Given the description of an element on the screen output the (x, y) to click on. 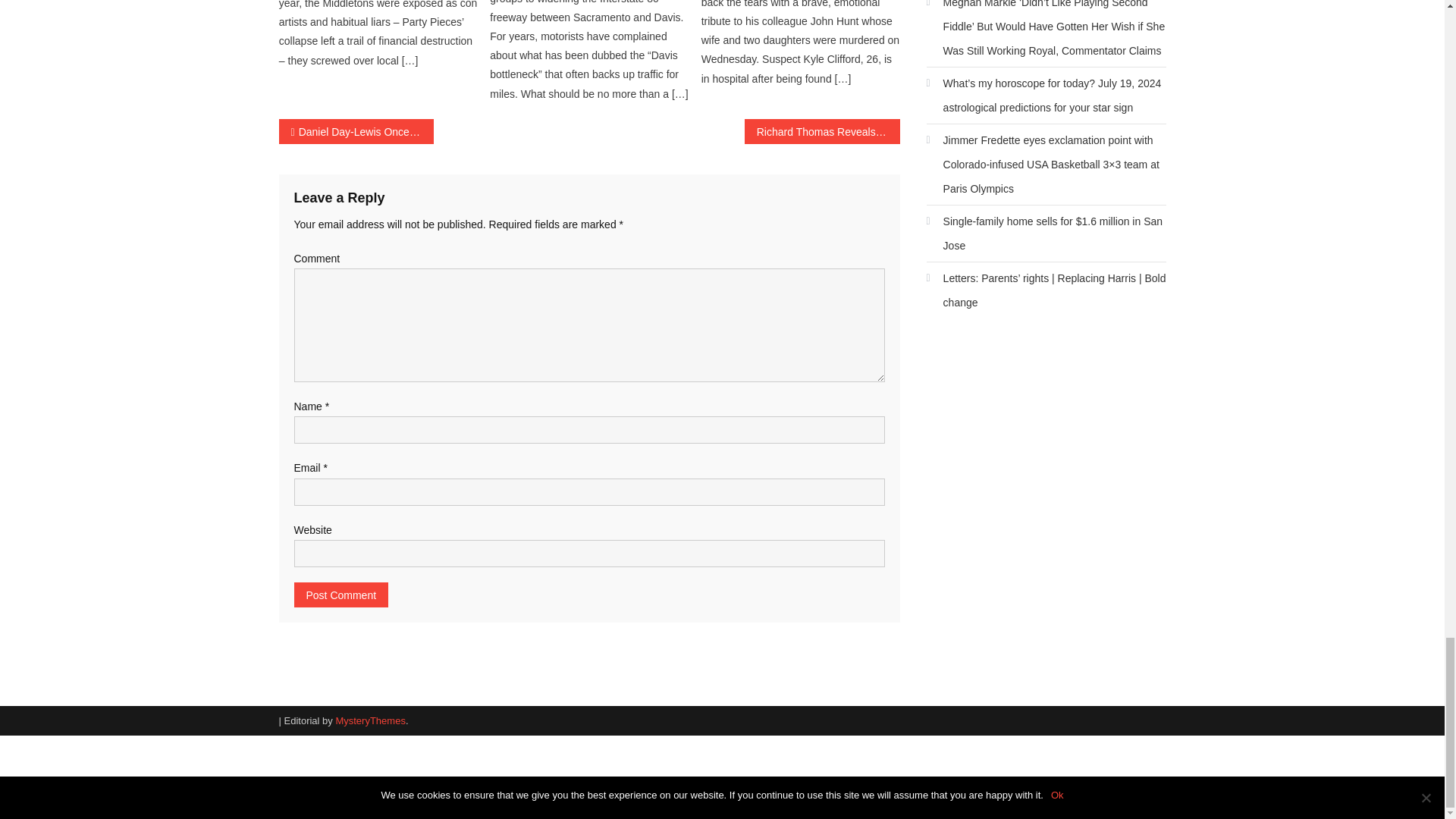
Post Comment (341, 594)
